Given the description of an element on the screen output the (x, y) to click on. 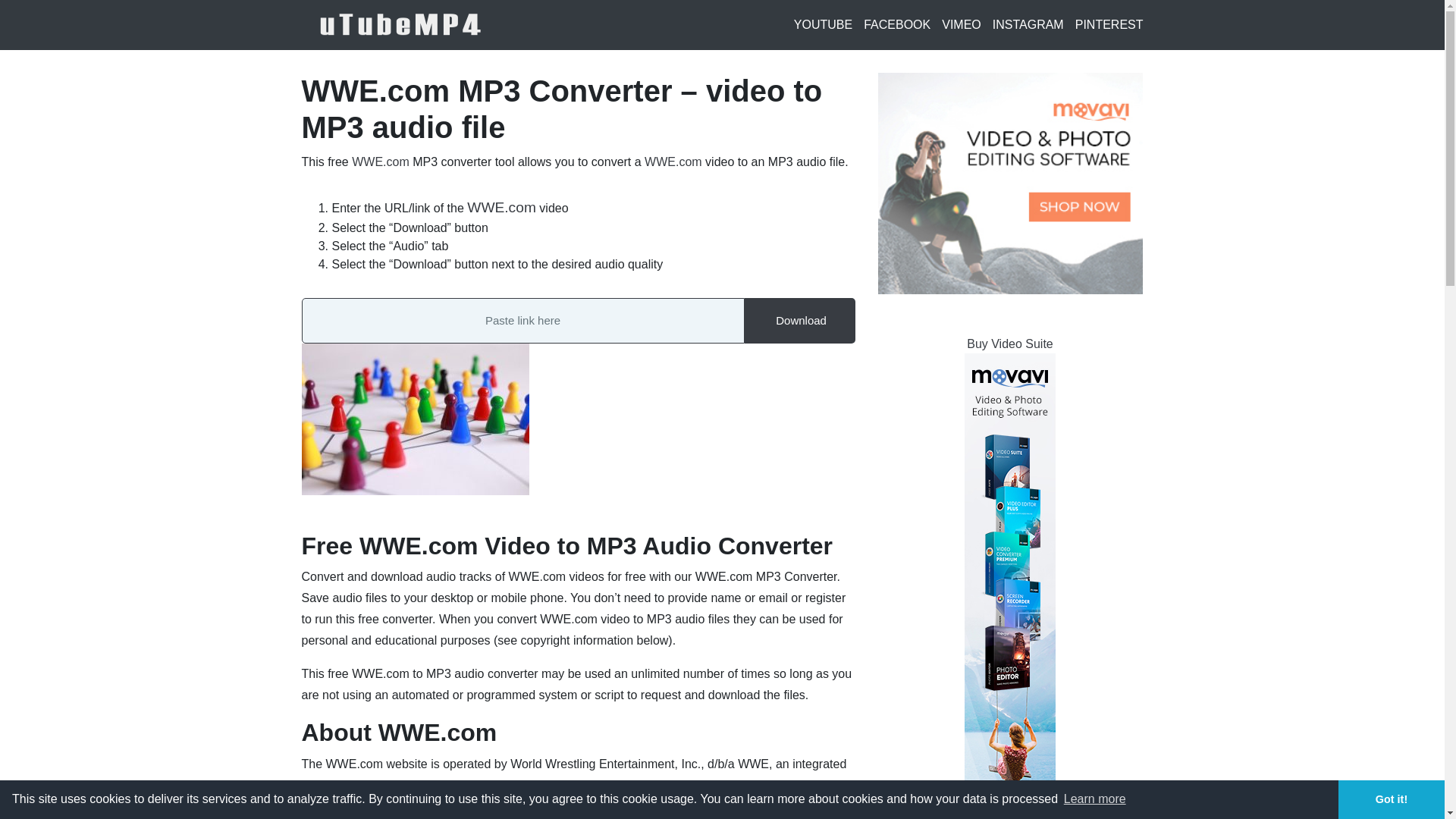
WWE.com (501, 207)
INSTAGRAM (1028, 24)
 Download (800, 320)
Learn more (1094, 798)
FACEBOOK (896, 24)
VIMEO (961, 24)
Buy Video Suite (1009, 343)
WWE.com (380, 161)
YOUTUBE (822, 24)
PINTEREST (1108, 24)
WWE.com (673, 161)
